Given the description of an element on the screen output the (x, y) to click on. 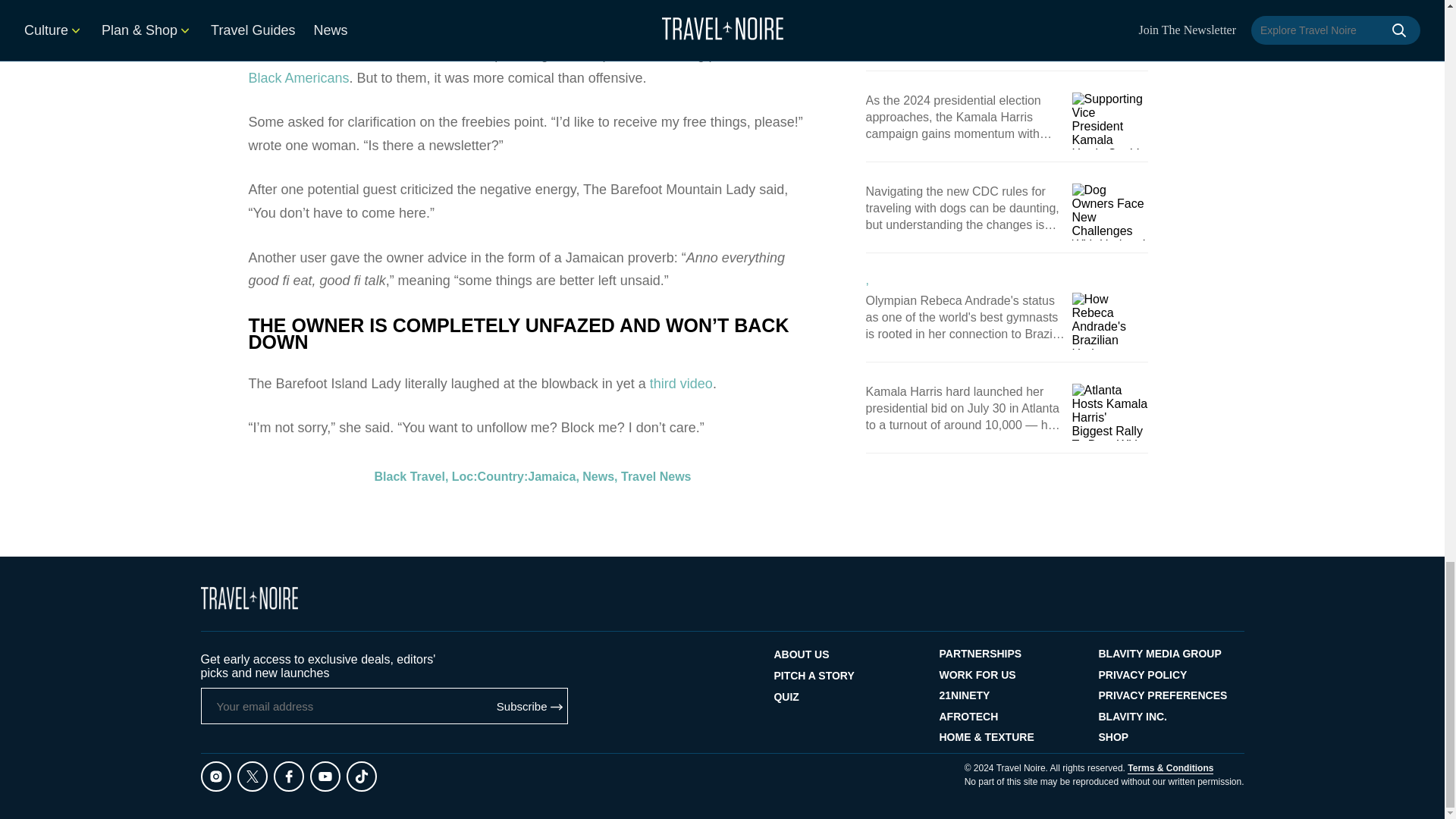
Dog Owners Face New Challenges With Updated CDC Travel Rules (1109, 211)
Loc:Country:Jamaica (513, 94)
Travel Noire (248, 598)
third video (681, 4)
News (598, 94)
Black Travel (409, 94)
